Given the description of an element on the screen output the (x, y) to click on. 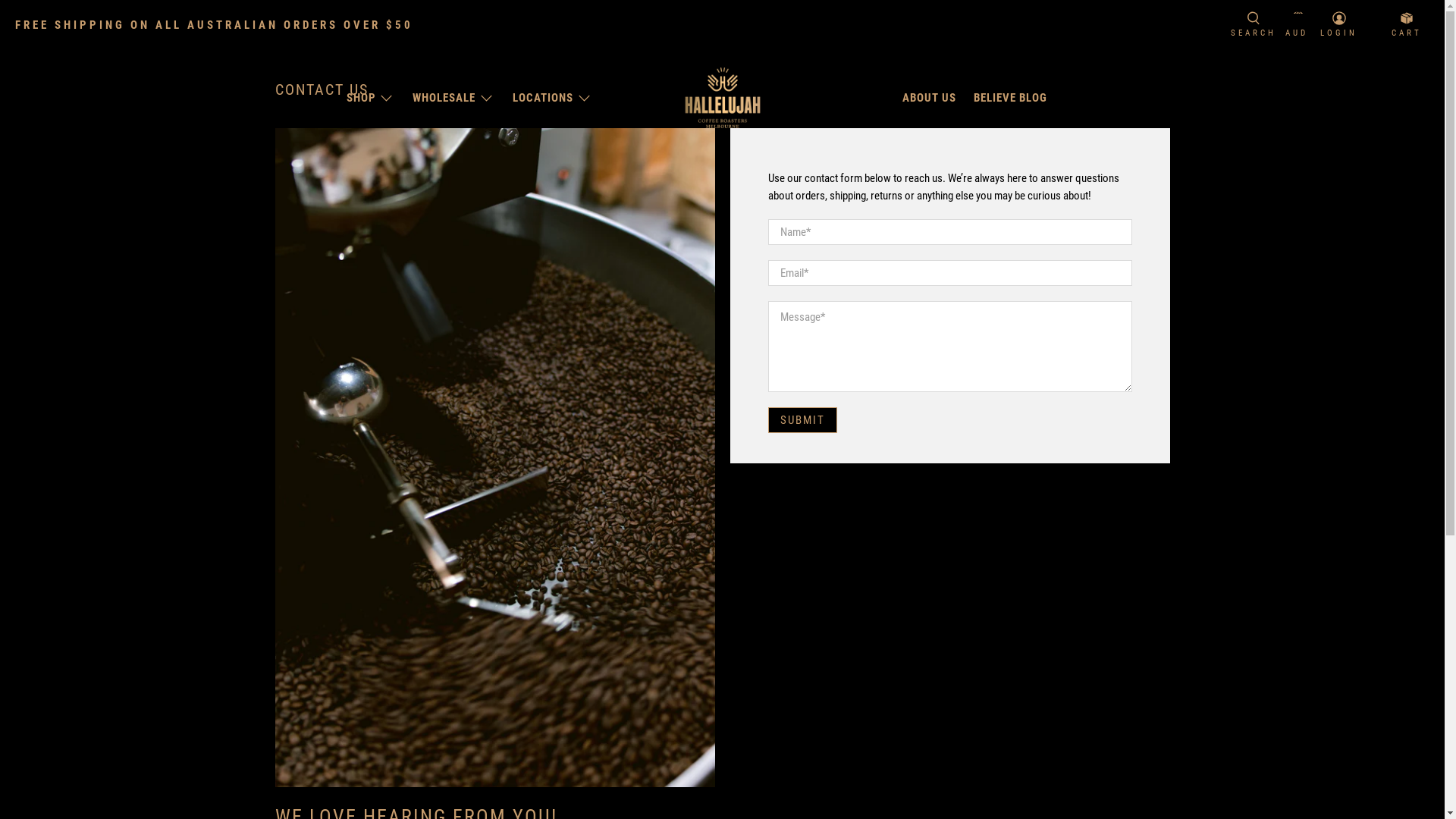
LOGIN Element type: text (1338, 25)
SEARCH Element type: text (1253, 25)
WHOLESALE Element type: text (454, 98)
SUBMIT Element type: text (801, 420)
BELIEVE BLOG Element type: text (1010, 98)
CART Element type: text (1406, 25)
SHOP Element type: text (370, 98)
Hallelujah Coffee Element type: hover (722, 97)
ABOUT US Element type: text (929, 98)
LOCATIONS Element type: text (553, 98)
